Given the description of an element on the screen output the (x, y) to click on. 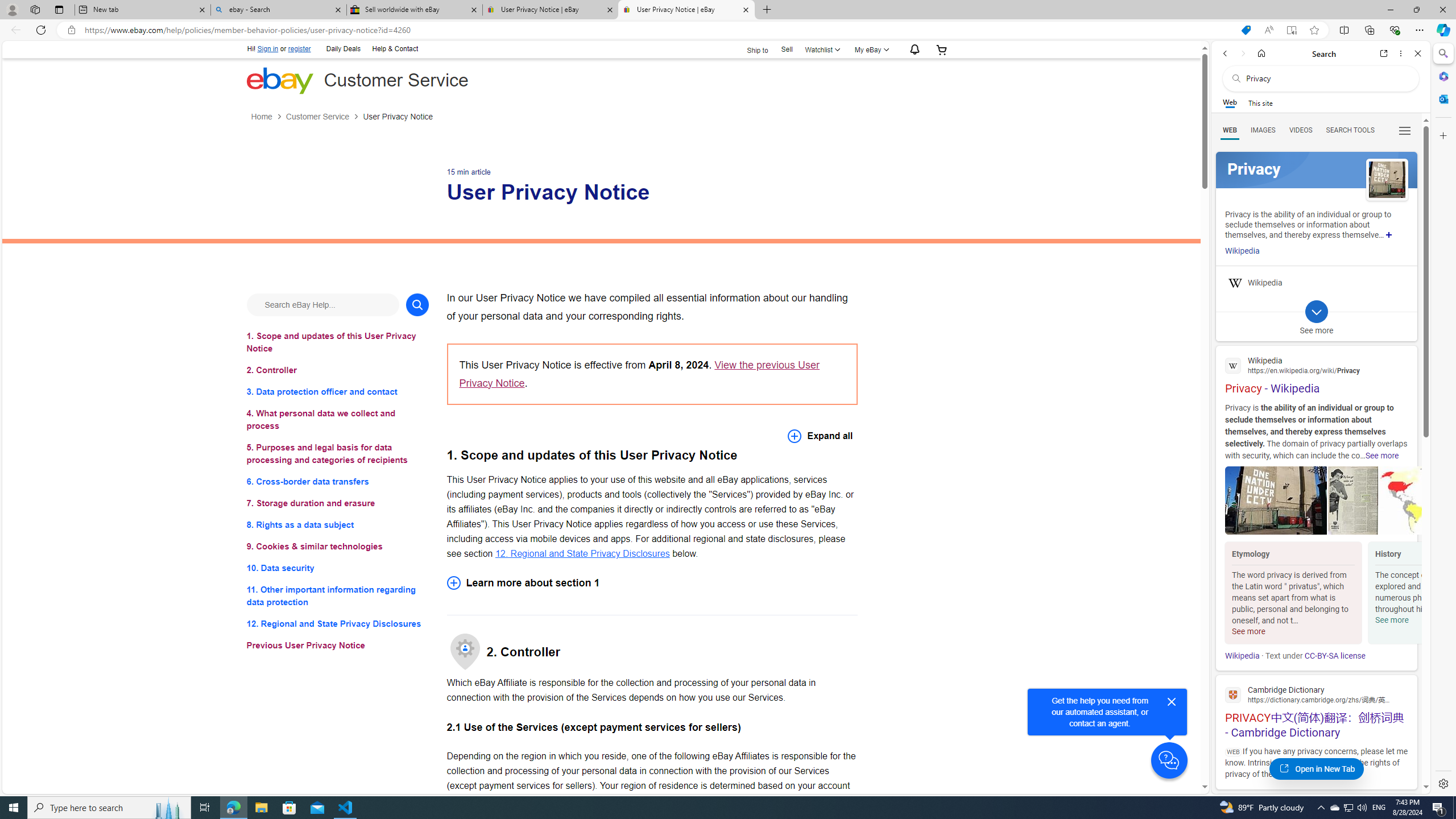
Class: b_serphb (1404, 130)
4. What personal data we collect and process (337, 419)
User Privacy Notice | eBay (685, 9)
3. Data protection officer and contact (337, 391)
1. Scope and updates of this User Privacy Notice (337, 341)
Side bar (1443, 418)
Learn more about section 1 (651, 582)
eBay Home (279, 80)
Forward (1242, 53)
User Privacy Notice (397, 117)
This site has coupons! Shopping in Microsoft Edge (1245, 29)
My eBay (870, 49)
